Given the description of an element on the screen output the (x, y) to click on. 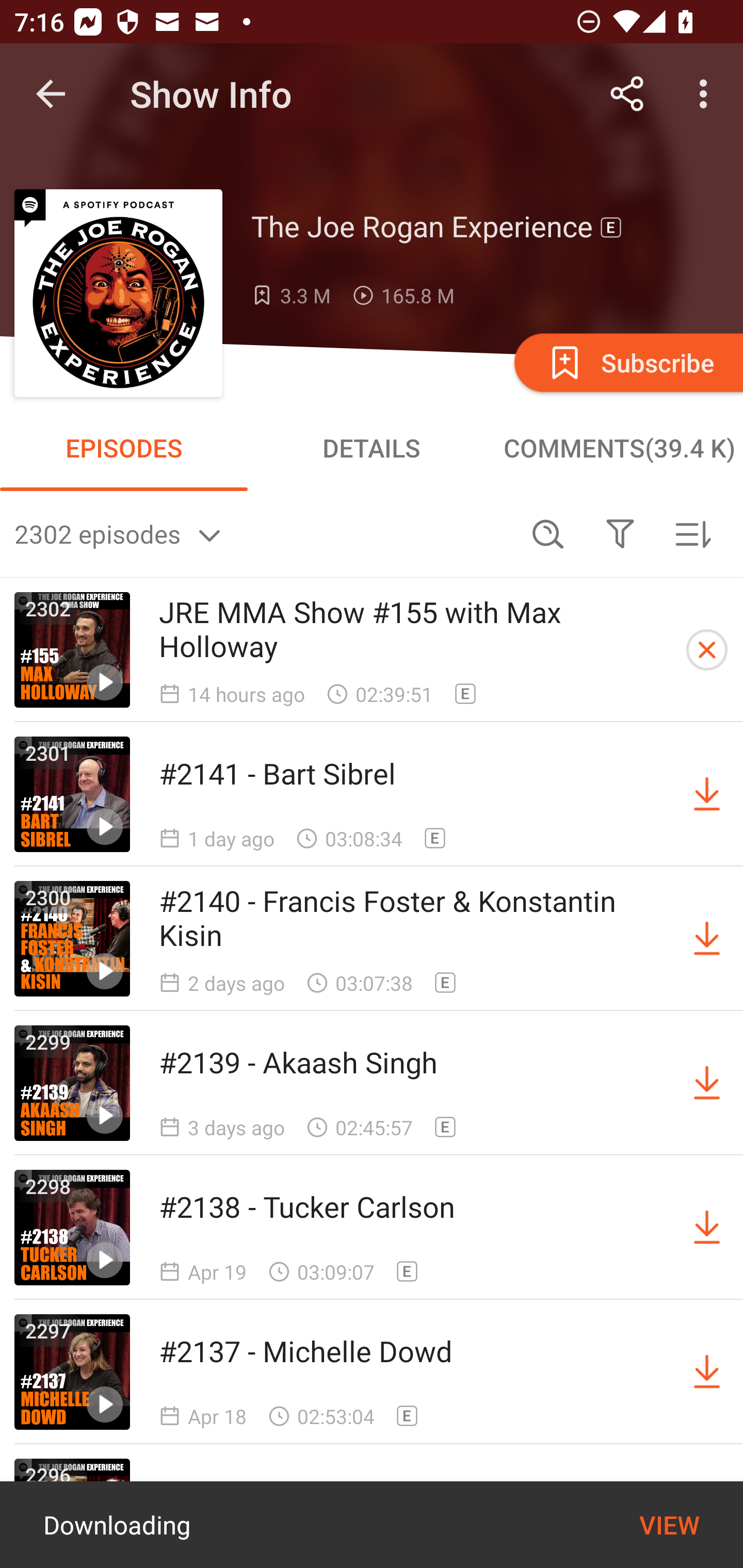
Navigate up (50, 93)
Share (626, 93)
More options (706, 93)
Subscribe (627, 361)
EPISODES (123, 447)
DETAILS (371, 447)
COMMENTS(39.4 K) (619, 447)
2302 episodes  (262, 533)
 Search (547, 533)
 (619, 533)
 Sorted by newest first (692, 533)
Cancel Downloading (706, 649)
Download (706, 793)
Download (706, 939)
Download (706, 1083)
Download (706, 1227)
Download (706, 1371)
Downloading VIEW (371, 1524)
VIEW (669, 1524)
